Given the description of an element on the screen output the (x, y) to click on. 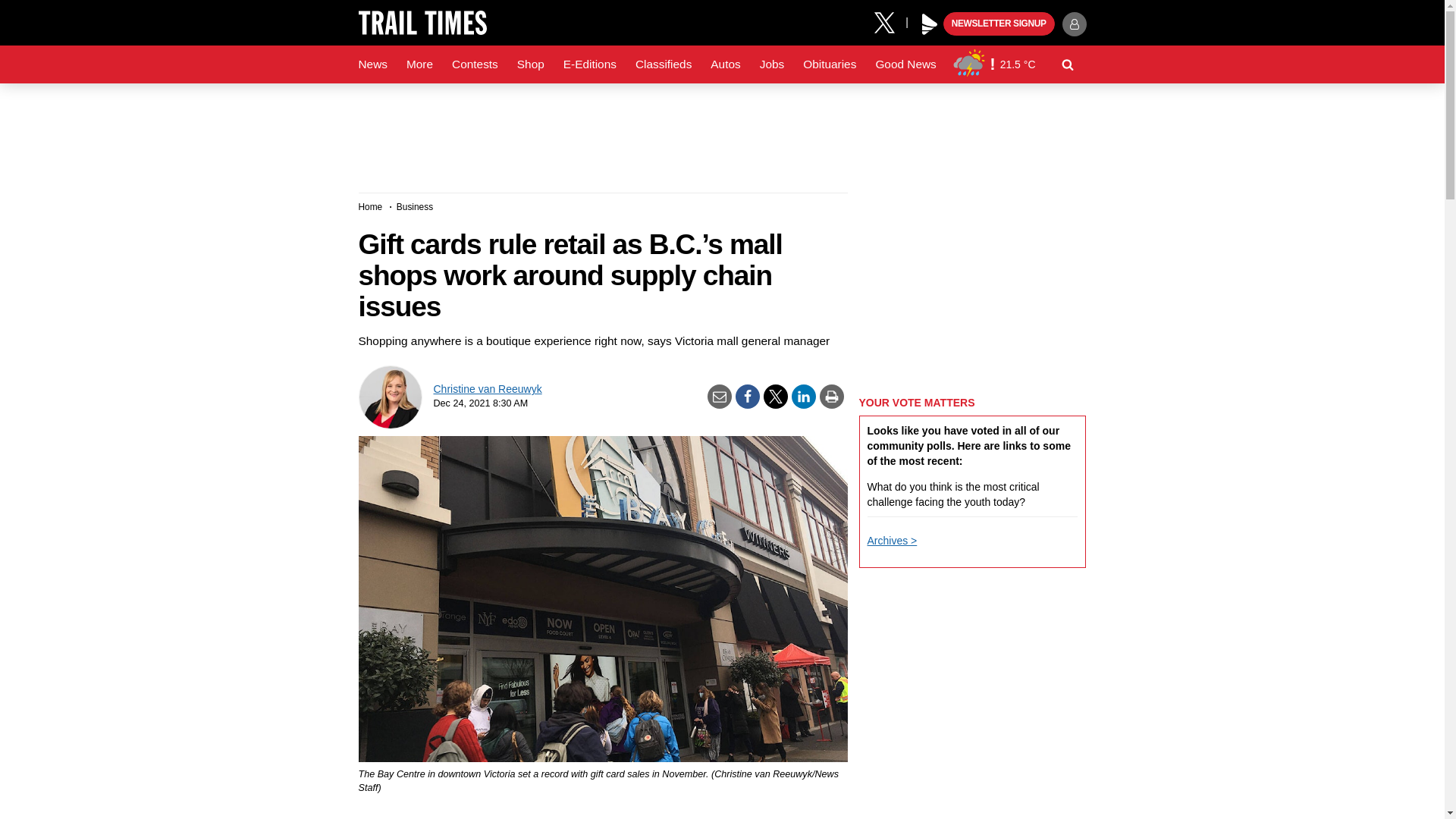
X (889, 21)
Play (929, 24)
3rd party ad content (721, 131)
3rd party ad content (972, 287)
Black Press Media (929, 24)
NEWSLETTER SIGNUP (998, 24)
News (372, 64)
